Given the description of an element on the screen output the (x, y) to click on. 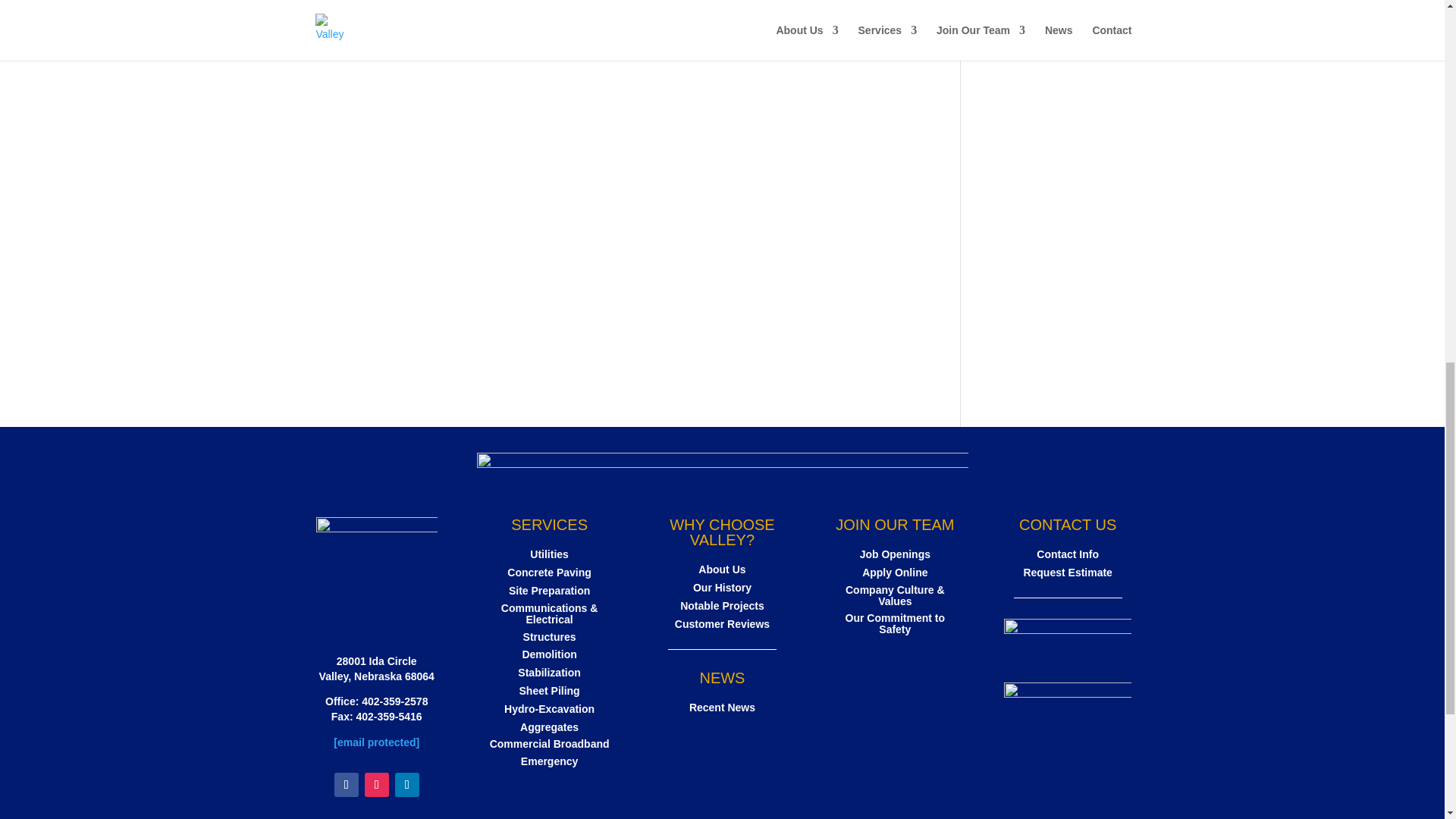
Follow on Facebook (346, 784)
Follow on Instagram (376, 784)
VC Slogan (722, 462)
Nuca (1067, 639)
ValleyCorp-Logo-Wht (376, 573)
Follow on LinkedIn (406, 784)
